Given the description of an element on the screen output the (x, y) to click on. 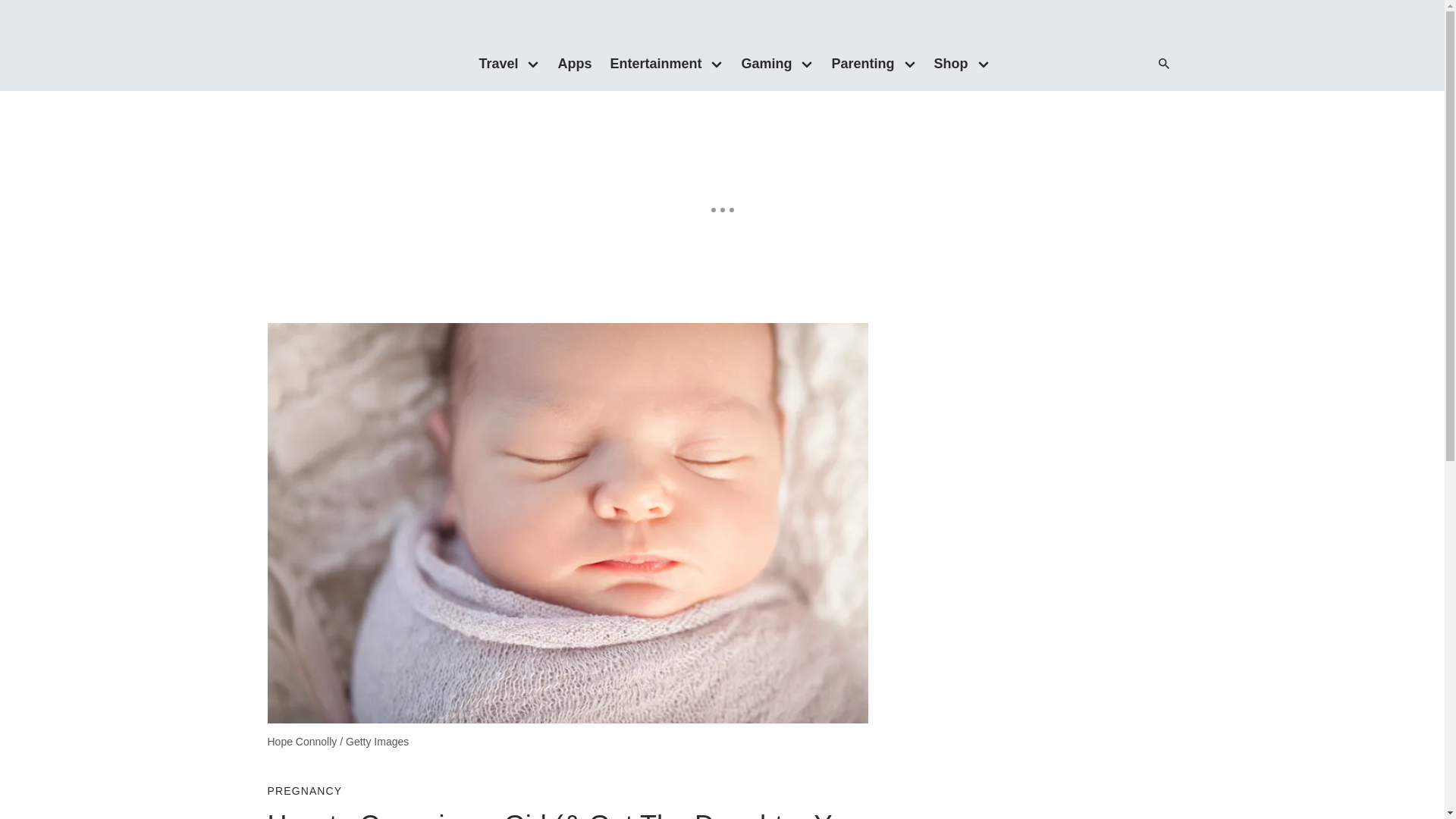
Apps (573, 63)
PREGNANCY (304, 790)
Open menu (807, 63)
Gaming (762, 63)
Open menu (909, 63)
Facebook (1048, 63)
Entertainment (650, 63)
Open menu (716, 63)
Instagram (1109, 63)
Open menu (982, 63)
